Given the description of an element on the screen output the (x, y) to click on. 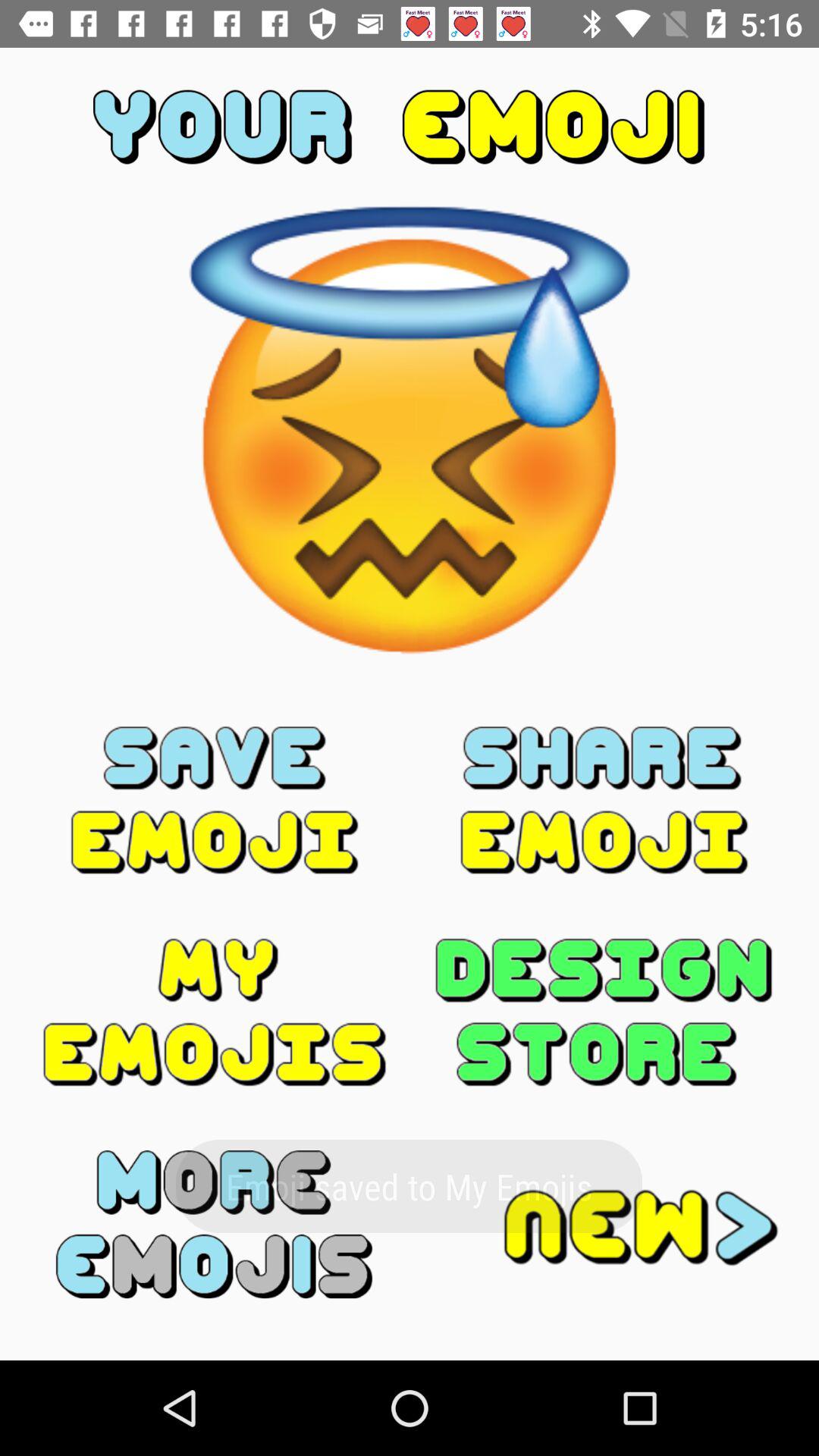
share the image (604, 800)
